Given the description of an element on the screen output the (x, y) to click on. 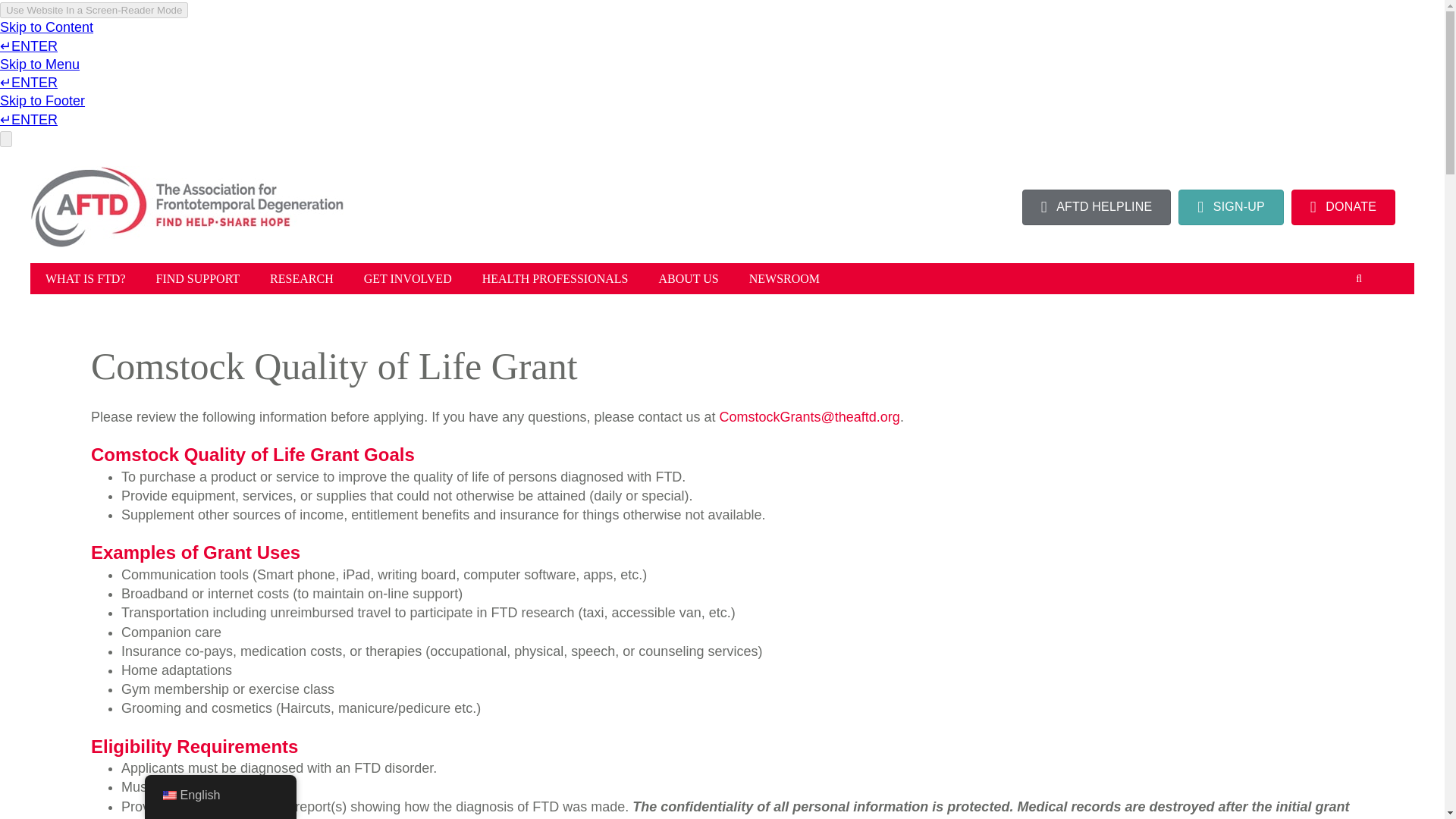
GET INVOLVED (408, 278)
AFTD HELPLINE (1097, 207)
aftd-logo (186, 207)
DONATE (1342, 207)
SIGN-UP (1230, 207)
FIND SUPPORT (196, 278)
RESEARCH (301, 278)
HEALTH PROFESSIONALS (555, 278)
WHAT IS FTD? (84, 278)
